Given the description of an element on the screen output the (x, y) to click on. 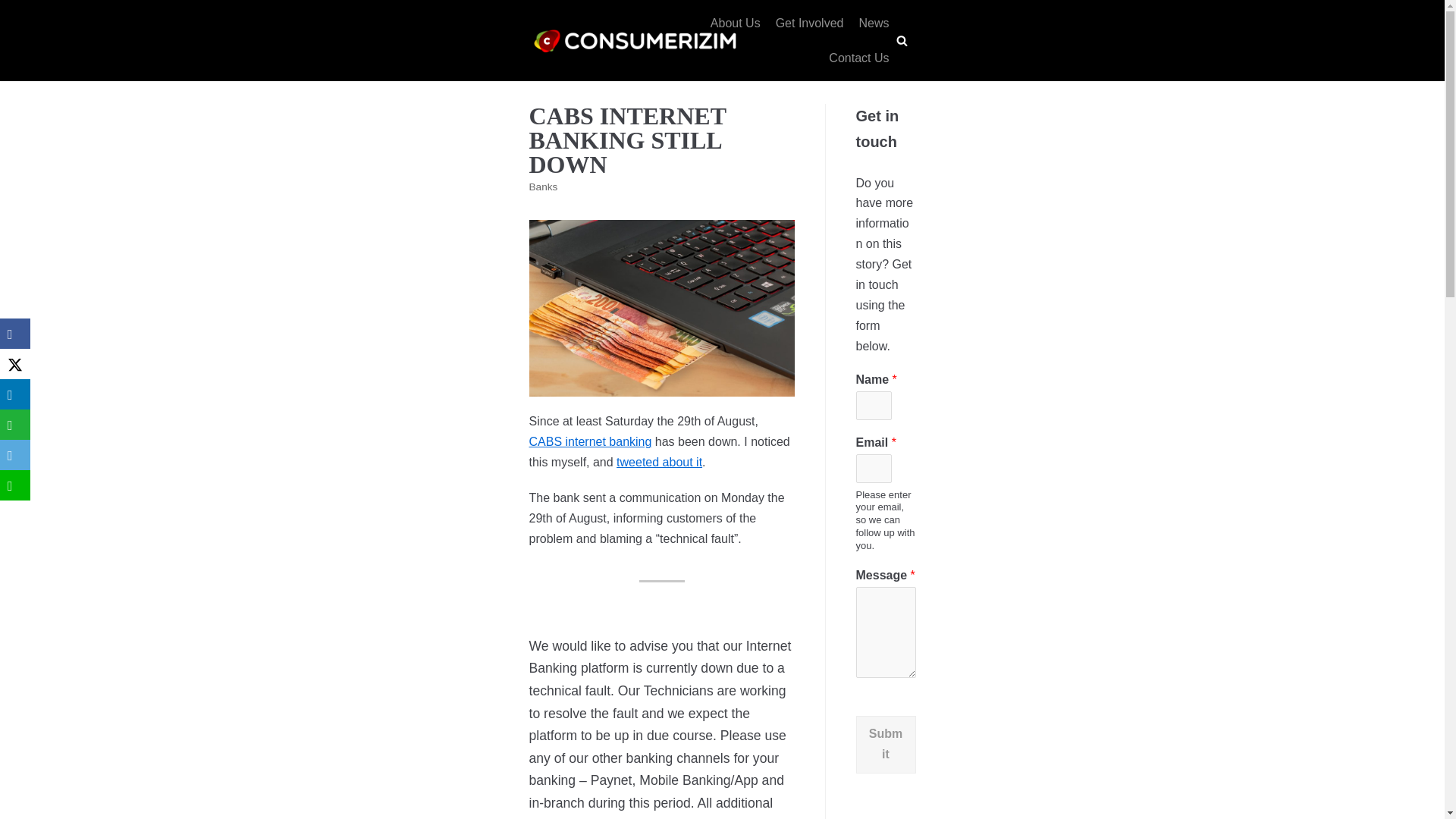
News (873, 23)
tweeted about it (658, 461)
Skip to content (15, 7)
CABS internet banking (590, 440)
CONSUMERIZIM (635, 40)
Search (897, 409)
Get Involved (810, 23)
Banks (543, 186)
Submit (885, 744)
Contact Us (858, 57)
